Given the description of an element on the screen output the (x, y) to click on. 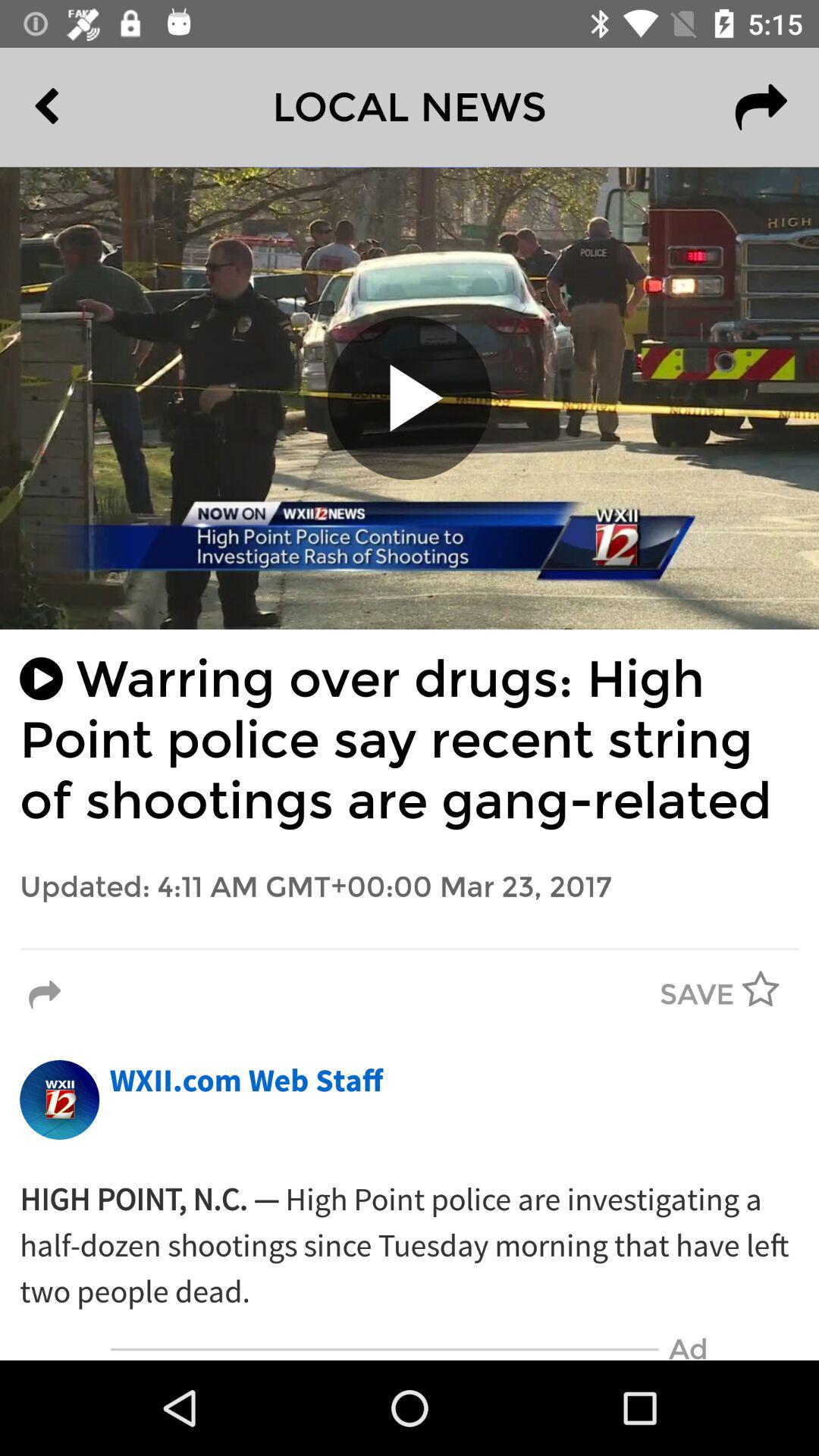
turn on the icon below high point n icon (384, 1349)
